Given the description of an element on the screen output the (x, y) to click on. 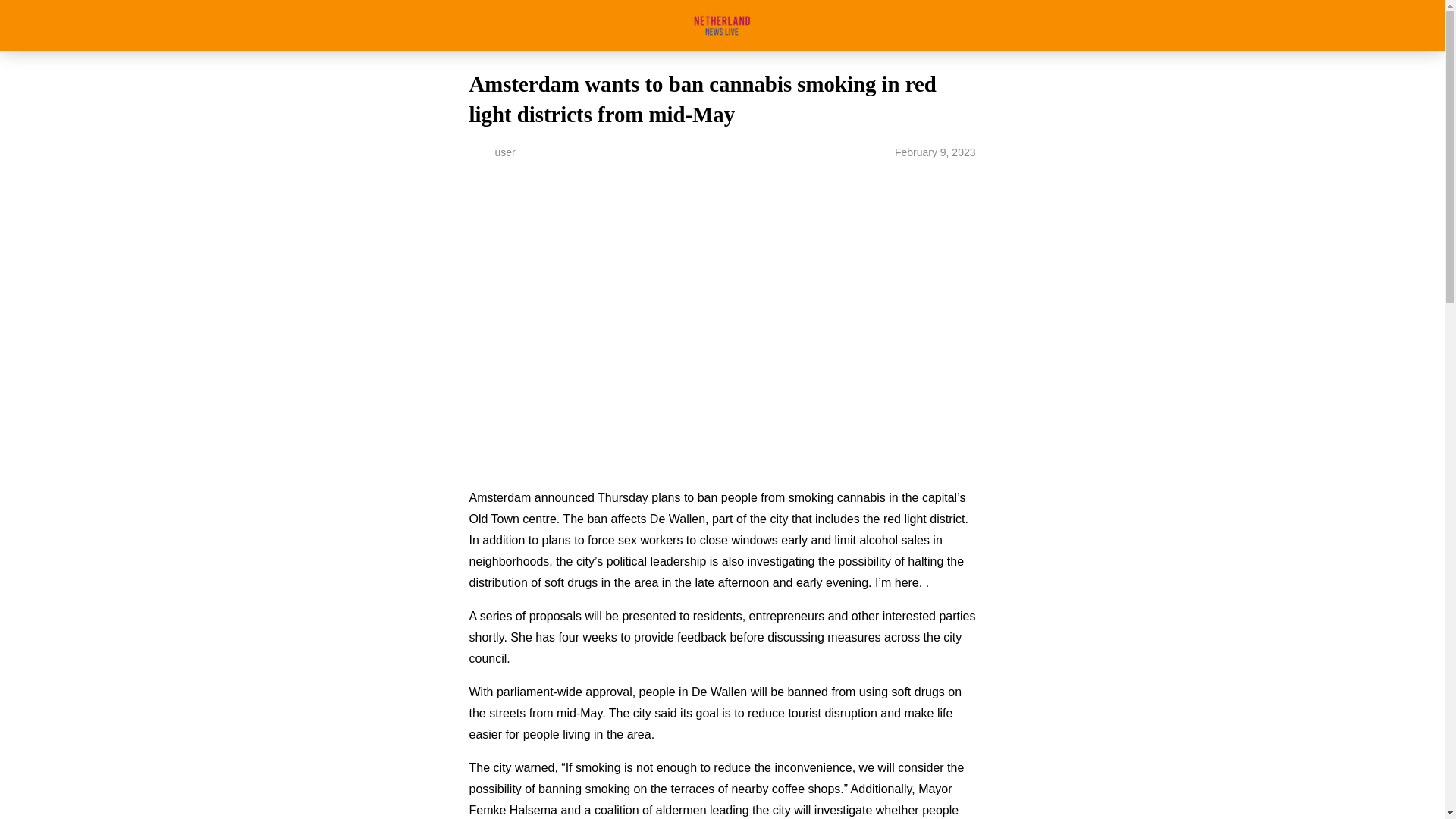
Netherlandsnewslive.com (721, 25)
